Given the description of an element on the screen output the (x, y) to click on. 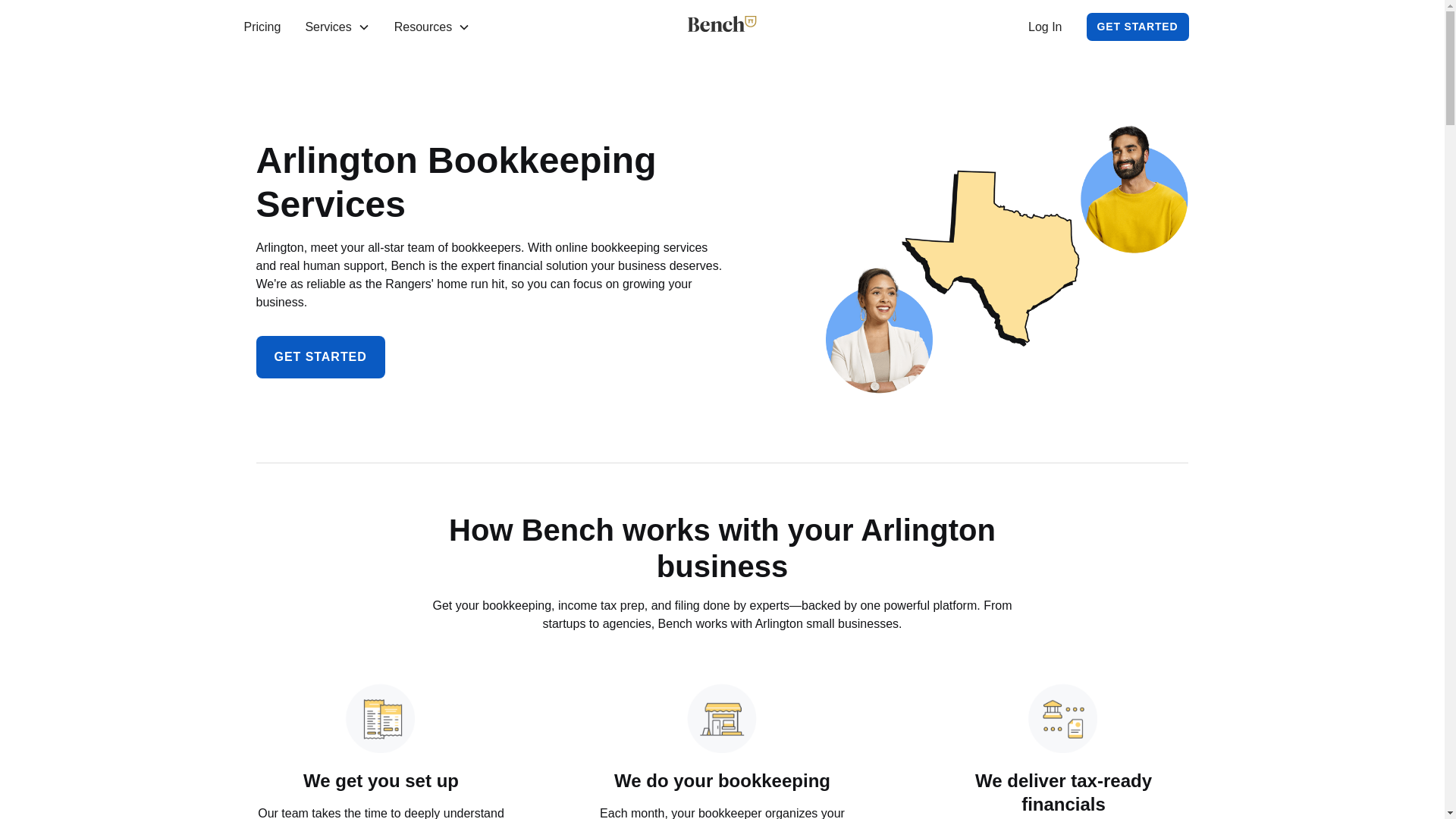
GET STARTED (320, 355)
Pricing (262, 27)
GET STARTED (1137, 26)
Log In (1044, 27)
